Given the description of an element on the screen output the (x, y) to click on. 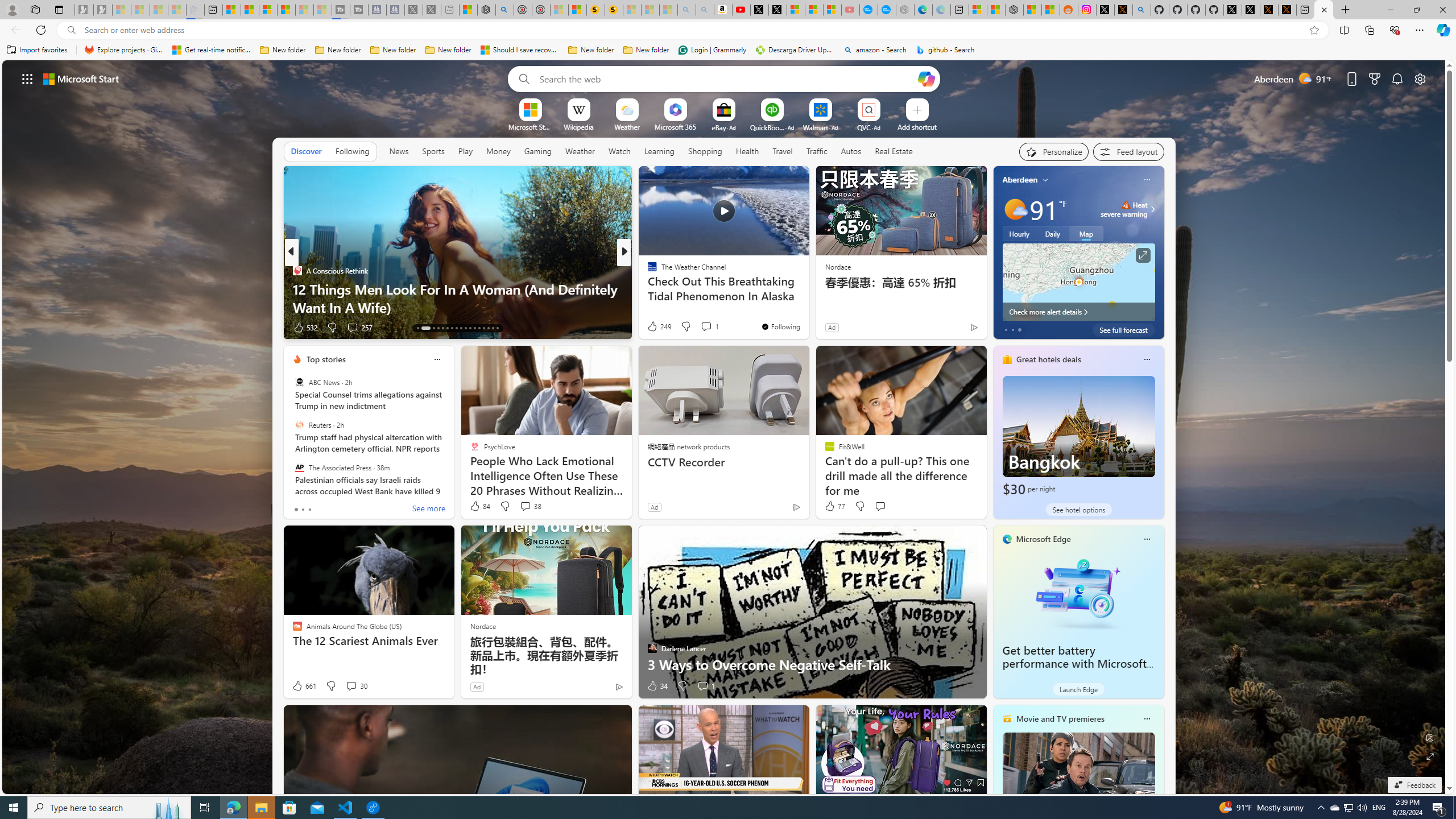
View comments 26 Comment (703, 327)
Add a site (916, 126)
Mostly sunny (1014, 208)
Learning (658, 151)
View comments 5 Comment (698, 327)
84 Like (479, 505)
help.x.com | 524: A timeout occurred (1123, 9)
Play (465, 151)
AutomationID: tab-19 (451, 328)
Bolde Media (647, 270)
View comments 366 Comment (703, 327)
View comments 3 Comment (705, 327)
View comments 3 Comment (703, 327)
